Given the description of an element on the screen output the (x, y) to click on. 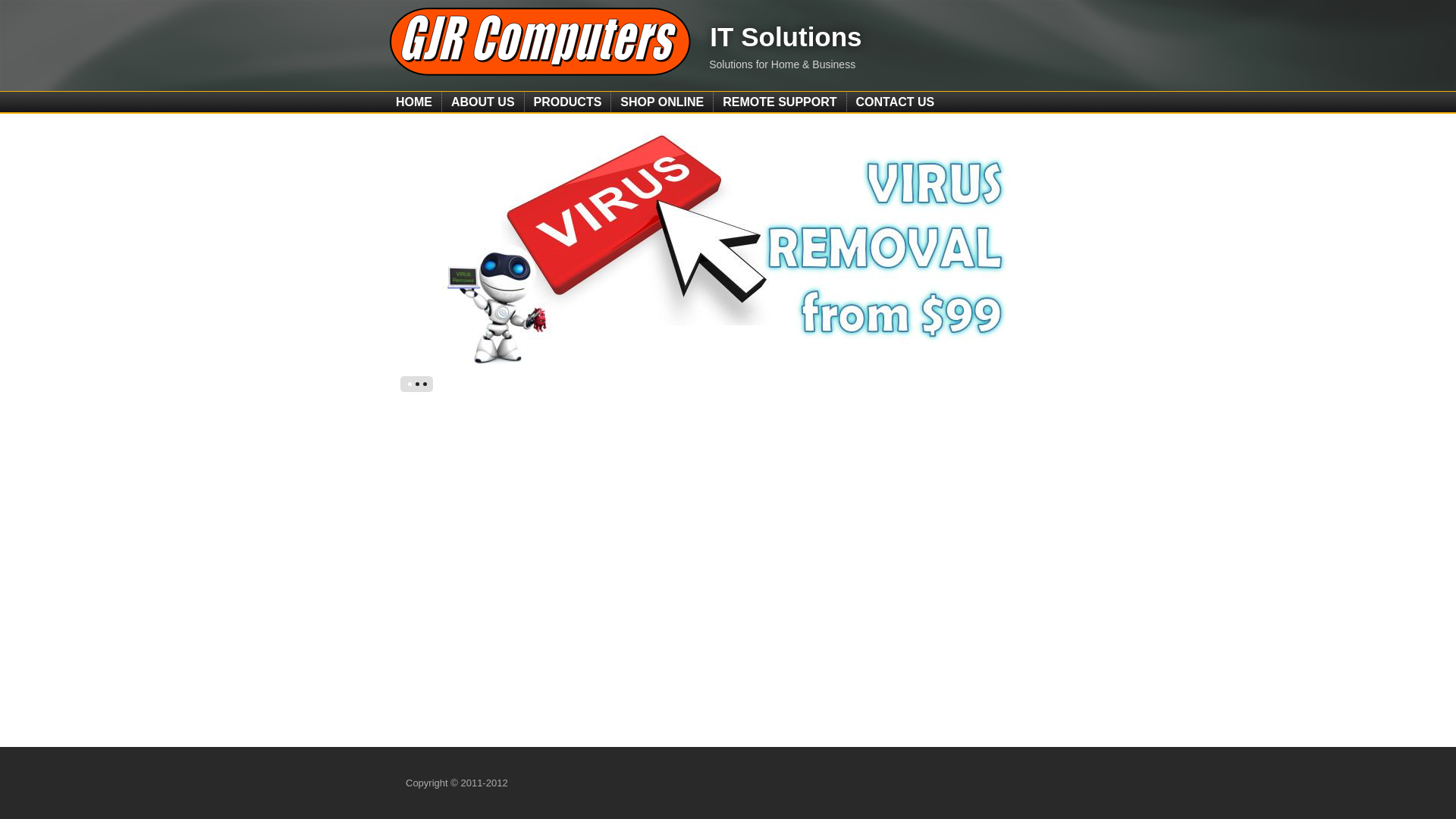
CONTACT US Element type: text (895, 101)
3 Element type: text (424, 383)
HOME Element type: text (413, 101)
1 Element type: text (409, 383)
2 Element type: text (417, 383)
IT Solutions Element type: text (785, 36)
REMOTE SUPPORT Element type: text (779, 101)
ABOUT US Element type: text (483, 101)
SHOP ONLINE Element type: text (661, 101)
PRODUCTS Element type: text (567, 101)
